Given the description of an element on the screen output the (x, y) to click on. 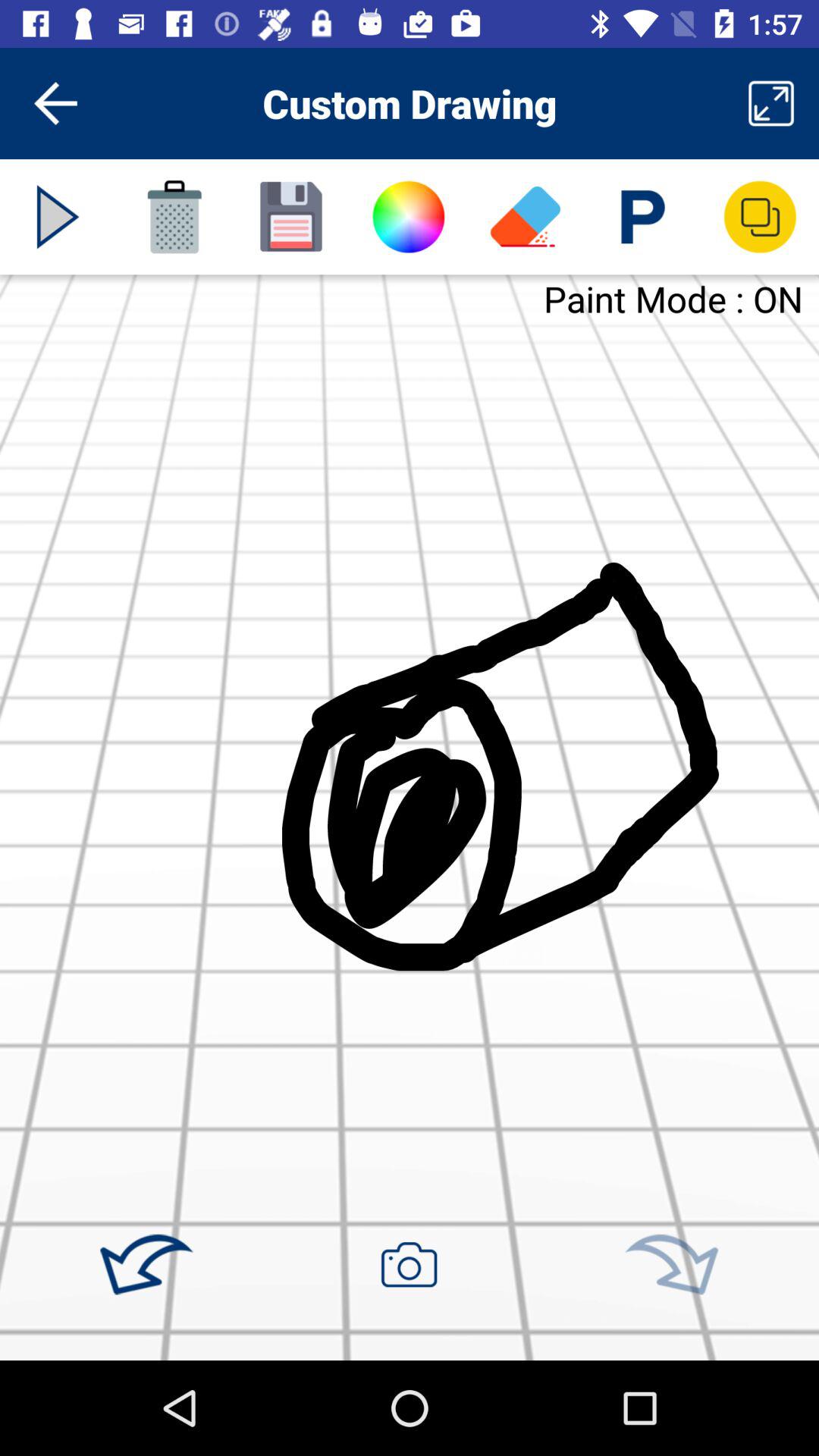
camera (408, 1264)
